Given the description of an element on the screen output the (x, y) to click on. 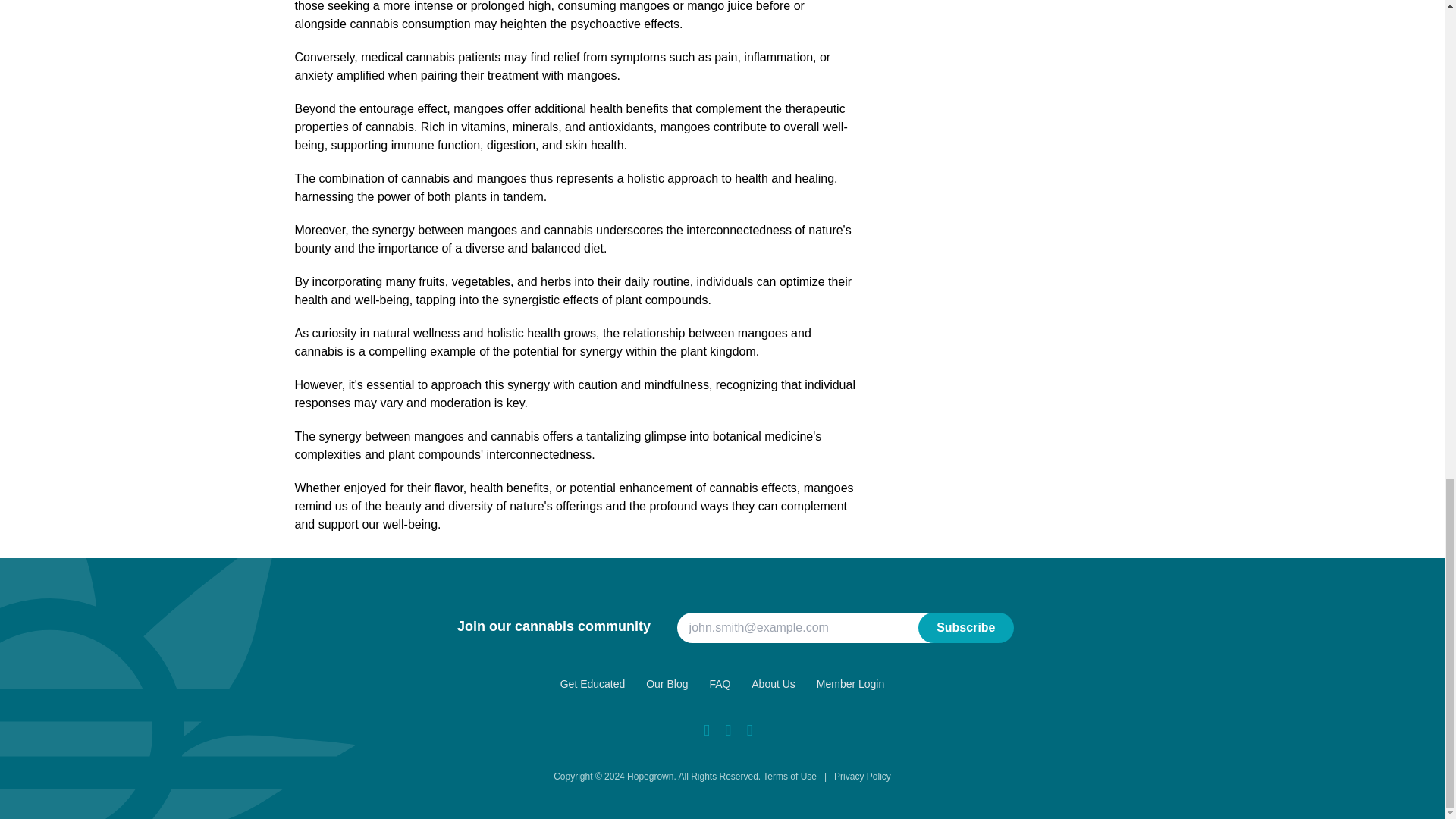
Our Blog (666, 683)
Terms of Use (789, 776)
About Us (772, 683)
Member Login (850, 683)
Subscribe (965, 627)
Privacy Policy (862, 776)
FAQ (719, 683)
Get Educated (592, 683)
